Given the description of an element on the screen output the (x, y) to click on. 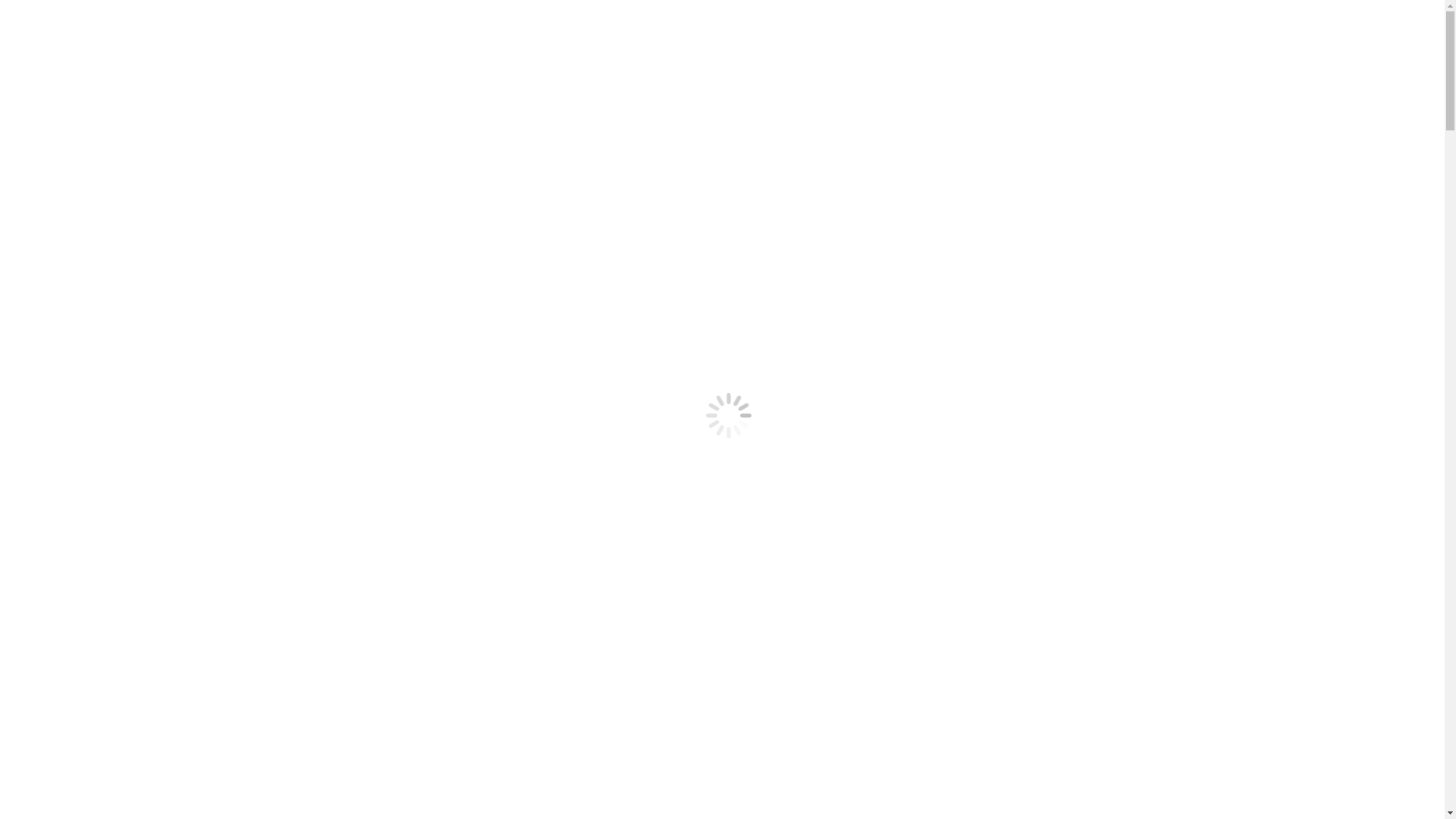
About Element type: text (51, 252)
Skip to content Element type: text (5, 5)
Lighting Design Element type: text (105, 399)
Commercial Element type: text (66, 344)
Commercial Renovations and Improvements Element type: text (175, 372)
Overhead Line Services Element type: text (124, 238)
Electrical Panel and Wiring Upgrades and Replacements Element type: text (203, 225)
Favourite Jobs Element type: text (71, 454)
Residential Element type: text (63, 143)
Business Electrical Installations Element type: text (143, 170)
Twitter page opens in new window Element type: text (24, 12)
Business Electrical Installations Element type: text (143, 358)
Overhead Line Services Element type: text (124, 426)
Home Element type: text (50, 567)
Commercial Element type: text (66, 156)
Commercial Renovations and Improvements Element type: text (175, 184)
Restaurant Electrical Installations and Repairs Element type: text (178, 385)
Restaurant Electrical Installations and Repairs Element type: text (178, 197)
Residential Element type: text (63, 331)
Facebook page opens in new window Element type: text (12, 12)
Contact Us Element type: text (33, 305)
Lighting Design Element type: text (105, 211)
Favourite Jobs Element type: text (71, 266)
About Element type: text (51, 440)
Electrical Panel and Wiring Upgrades and Replacements Element type: text (203, 413)
Blog Element type: text (47, 279)
403.830.2536 Element type: text (45, 66)
Blog Element type: text (47, 467)
